Given the description of an element on the screen output the (x, y) to click on. 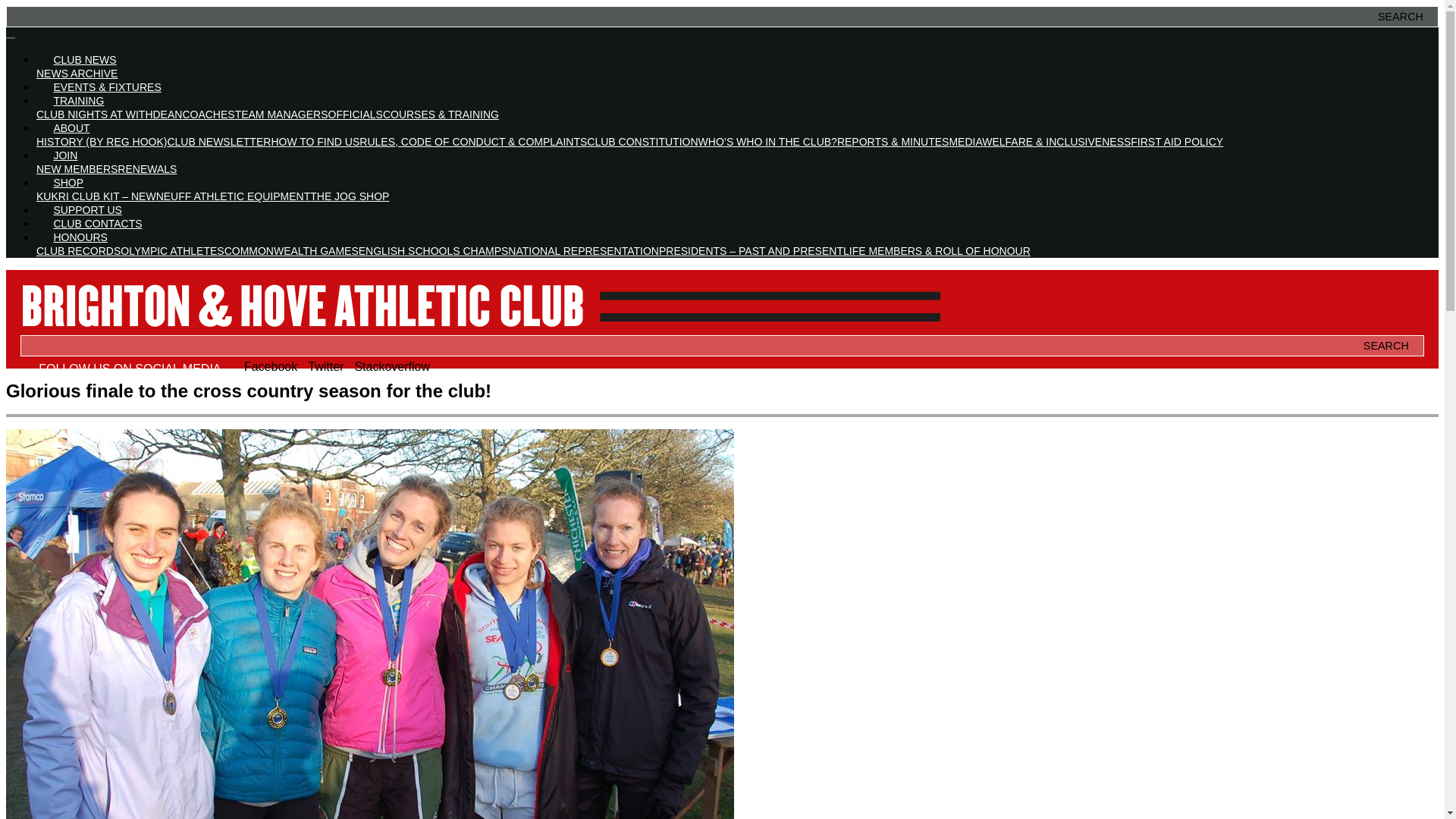
HONOURS (79, 237)
SHOP (68, 183)
CLUB NEWS (84, 60)
JOIN (65, 155)
Officials (355, 114)
How to find us (314, 141)
COACHES (208, 114)
FIRST AID POLICY (1177, 141)
CLUB RECORDS (78, 250)
Club Nights at Withdean (109, 114)
COMMONWEALTH GAMES (291, 250)
CLUB NEWSLETTER (218, 141)
Training (78, 101)
TRAINING (78, 101)
NATIONAL REPRESENTATION (583, 250)
